Given the description of an element on the screen output the (x, y) to click on. 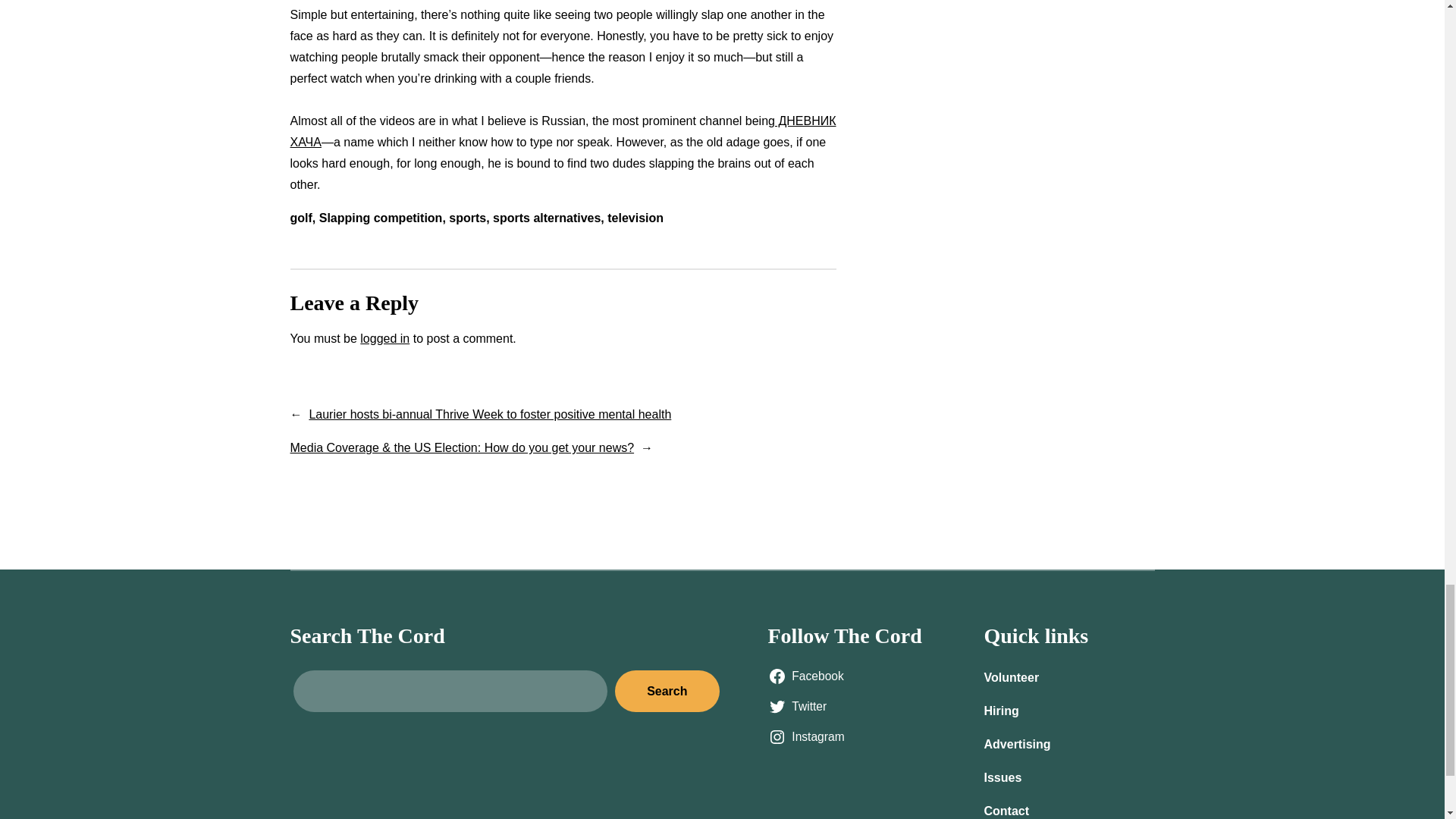
television (635, 217)
sports (467, 217)
sports alternatives (546, 217)
golf (300, 217)
Slapping competition (380, 217)
